Given the description of an element on the screen output the (x, y) to click on. 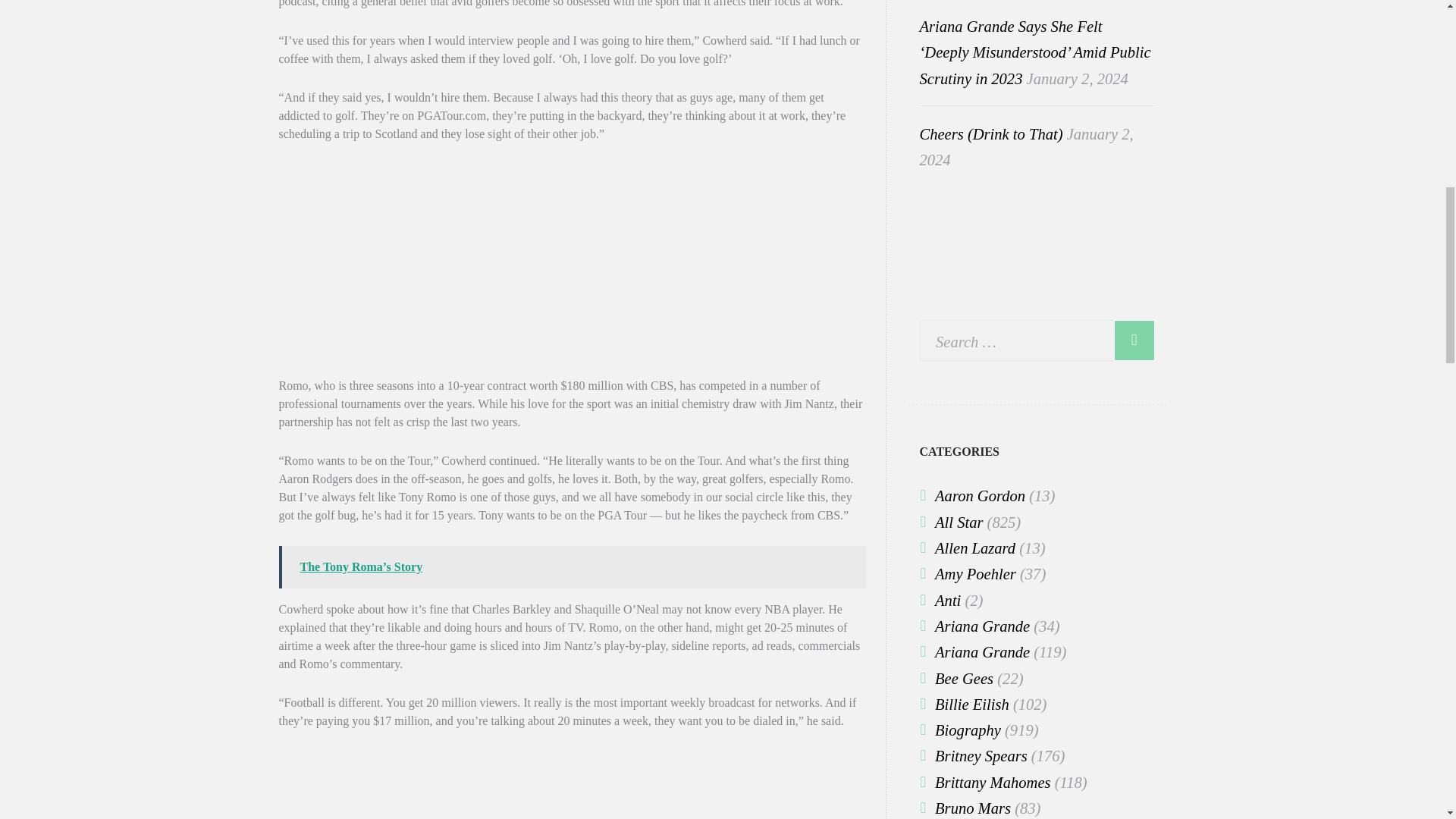
Advertisement (571, 270)
Advertisement (1037, 237)
Advertisement (571, 785)
Search for: (1037, 339)
